Given the description of an element on the screen output the (x, y) to click on. 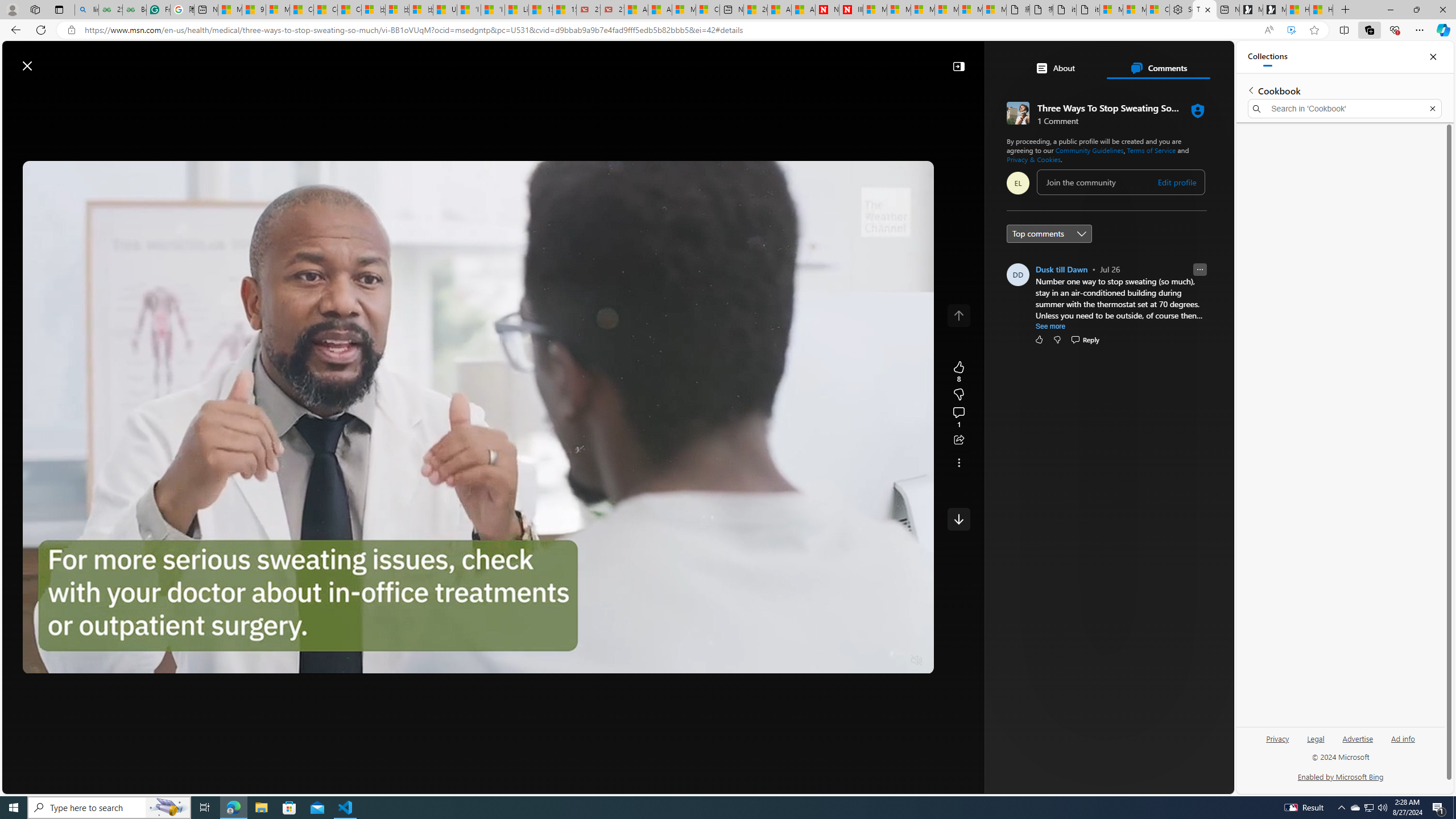
8 (958, 394)
Dusk till Dawn (1061, 269)
Class: control icon-only (958, 315)
Fullscreen (895, 660)
Search in 'Cookbook' (1345, 108)
